Given the description of an element on the screen output the (x, y) to click on. 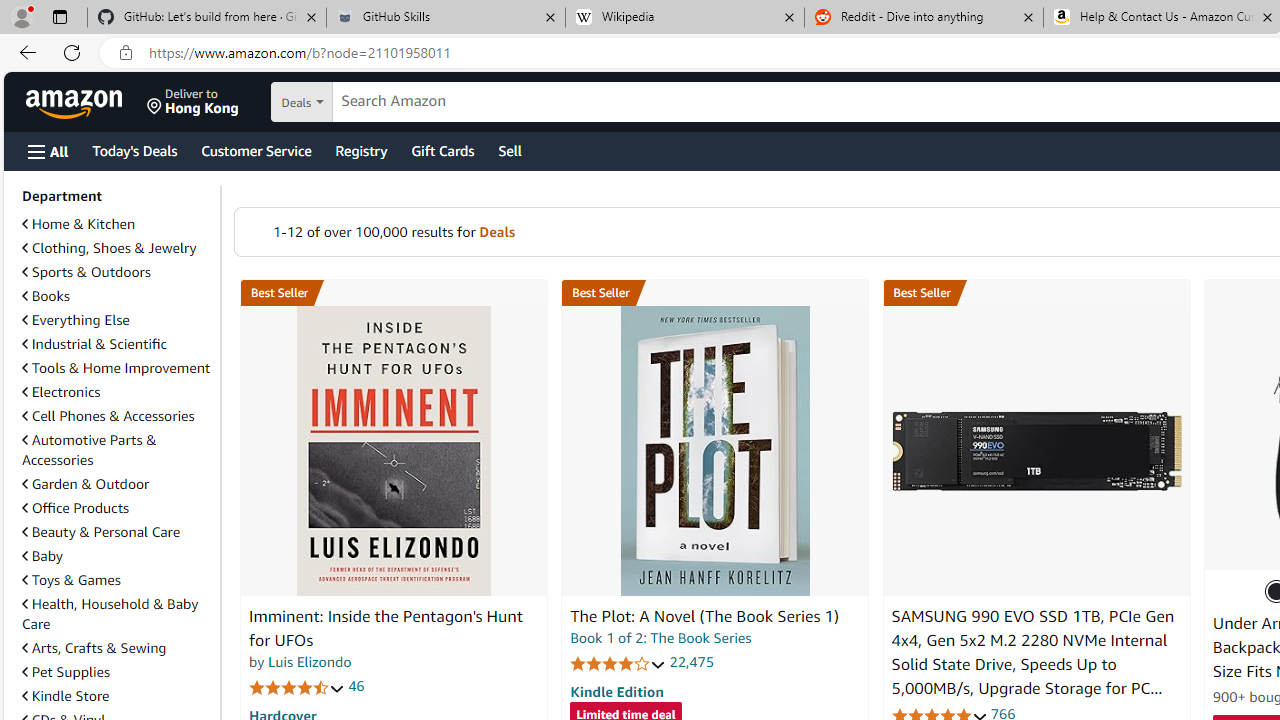
Electronics (117, 391)
Garden & Outdoor (117, 483)
Cell Phones & Accessories (107, 415)
Tools & Home Improvement (117, 367)
Pet Supplies (117, 671)
Deliver to Hong Kong (193, 101)
Best Seller in Heist Thrillers (715, 293)
Cell Phones & Accessories (117, 416)
Imminent: Inside the Pentagon's Hunt for UFOs (393, 451)
Toys & Games (117, 579)
Sports & Outdoors (86, 271)
